Given the description of an element on the screen output the (x, y) to click on. 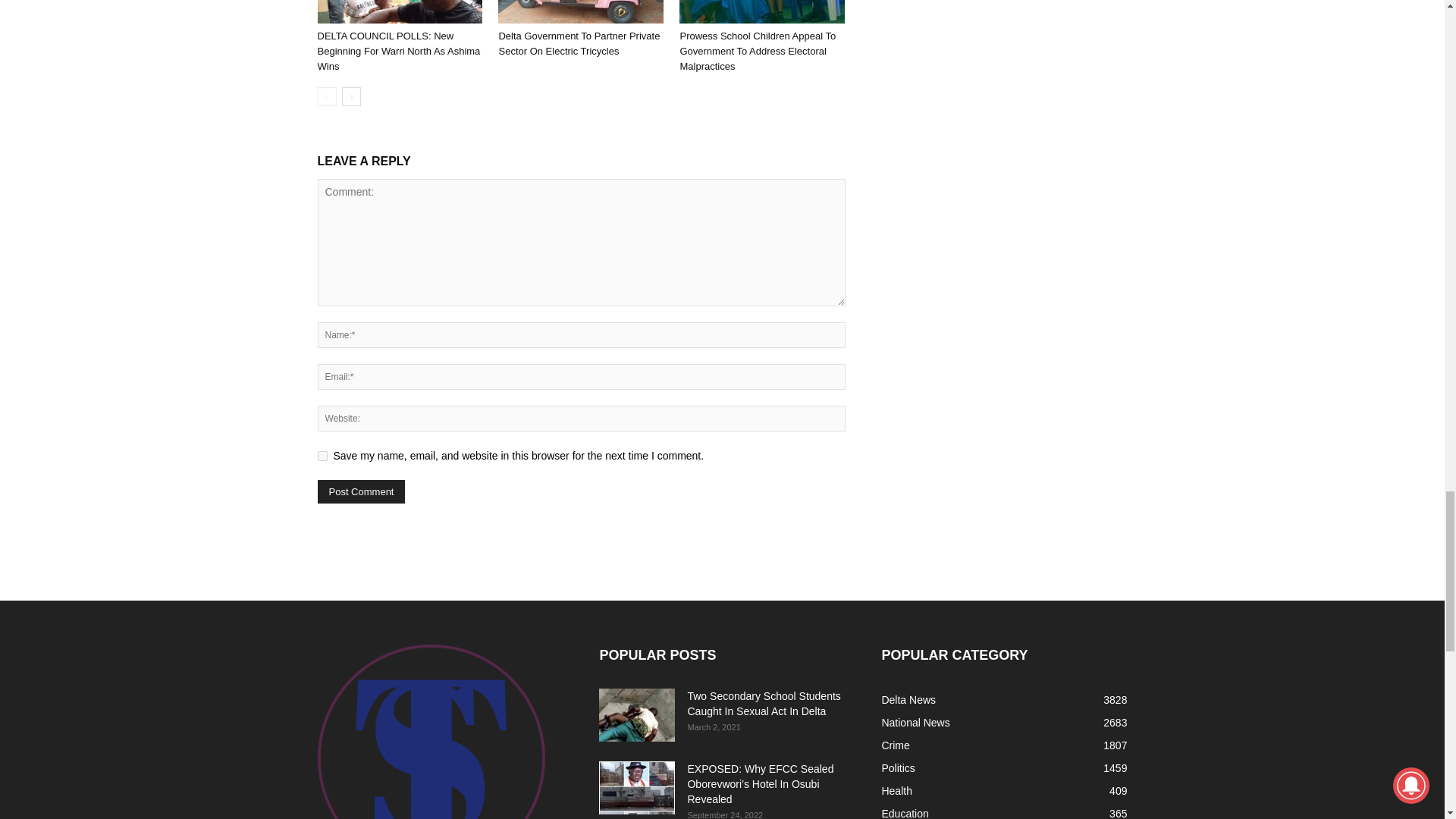
Post Comment (360, 491)
yes (321, 456)
